Given the description of an element on the screen output the (x, y) to click on. 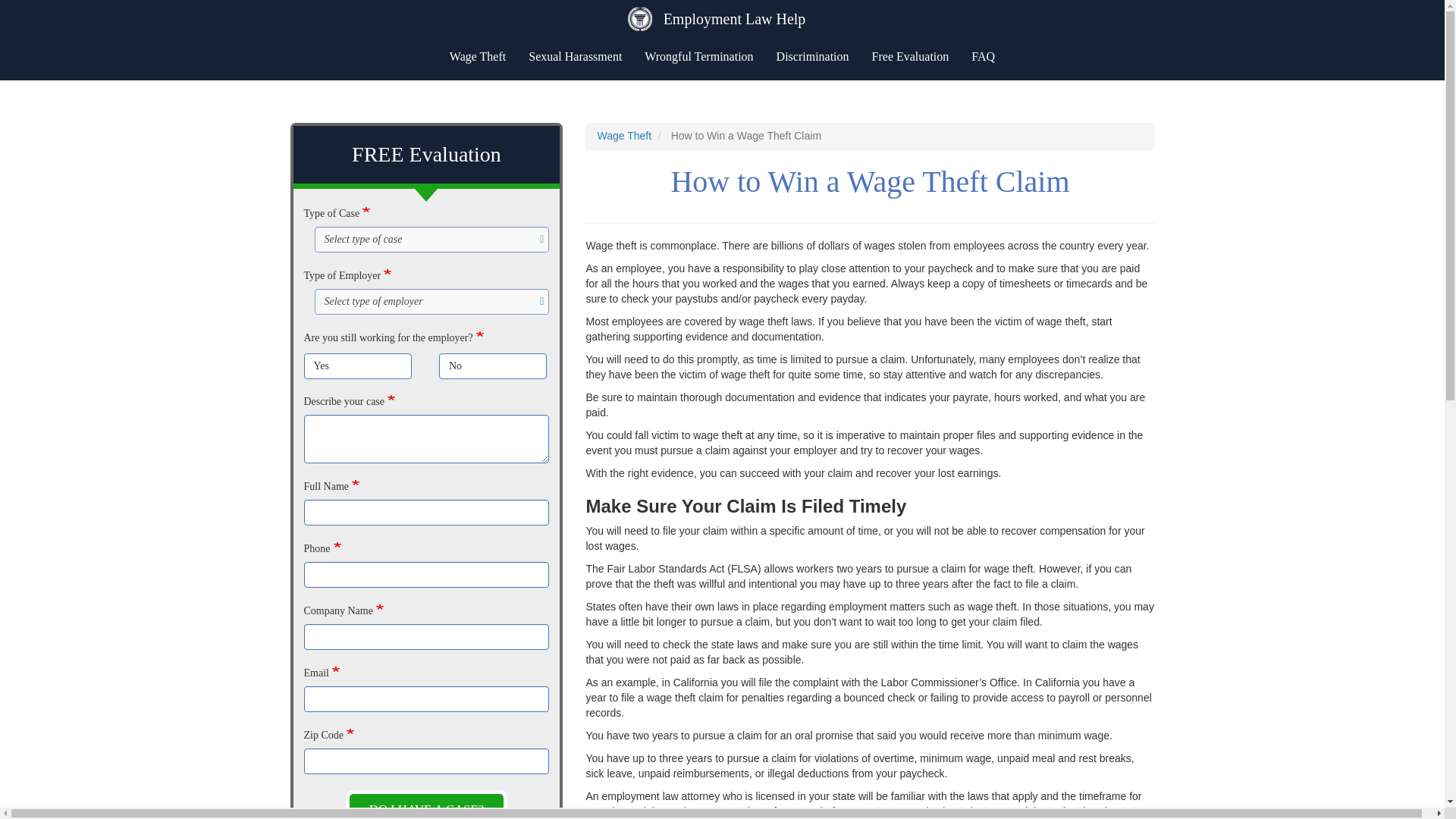
Home (721, 18)
Free Evaluation (910, 56)
DO I HAVE A CASE? (427, 804)
Home (734, 18)
Wage Theft (477, 56)
Wage Theft (623, 135)
Employment Law Help (734, 18)
Wrongful Termination (698, 56)
Discrimination (812, 56)
FAQ (982, 56)
Sexual Harassment (574, 56)
